Given the description of an element on the screen output the (x, y) to click on. 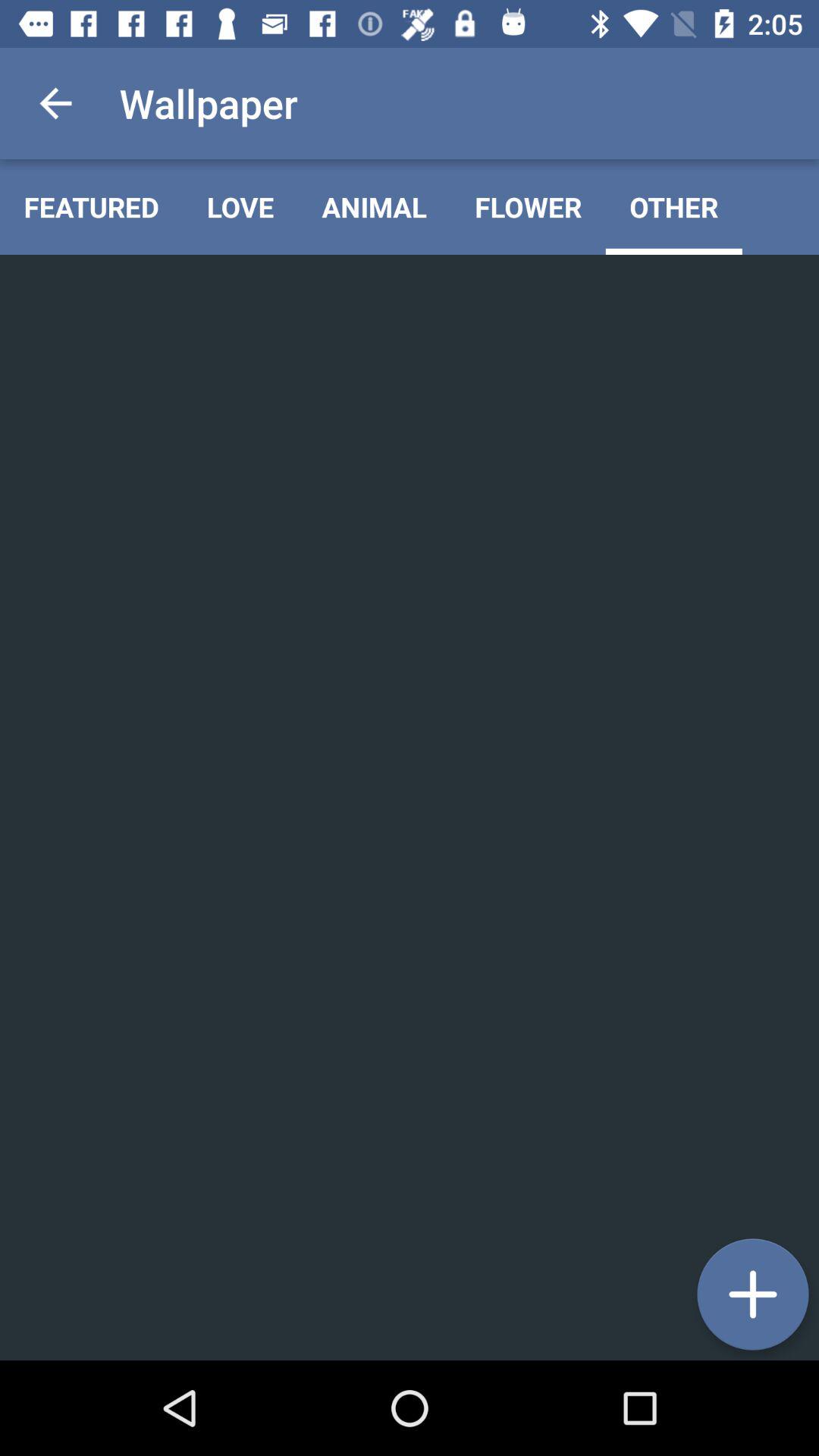
launch the item next to the wallpaper app (55, 103)
